Given the description of an element on the screen output the (x, y) to click on. 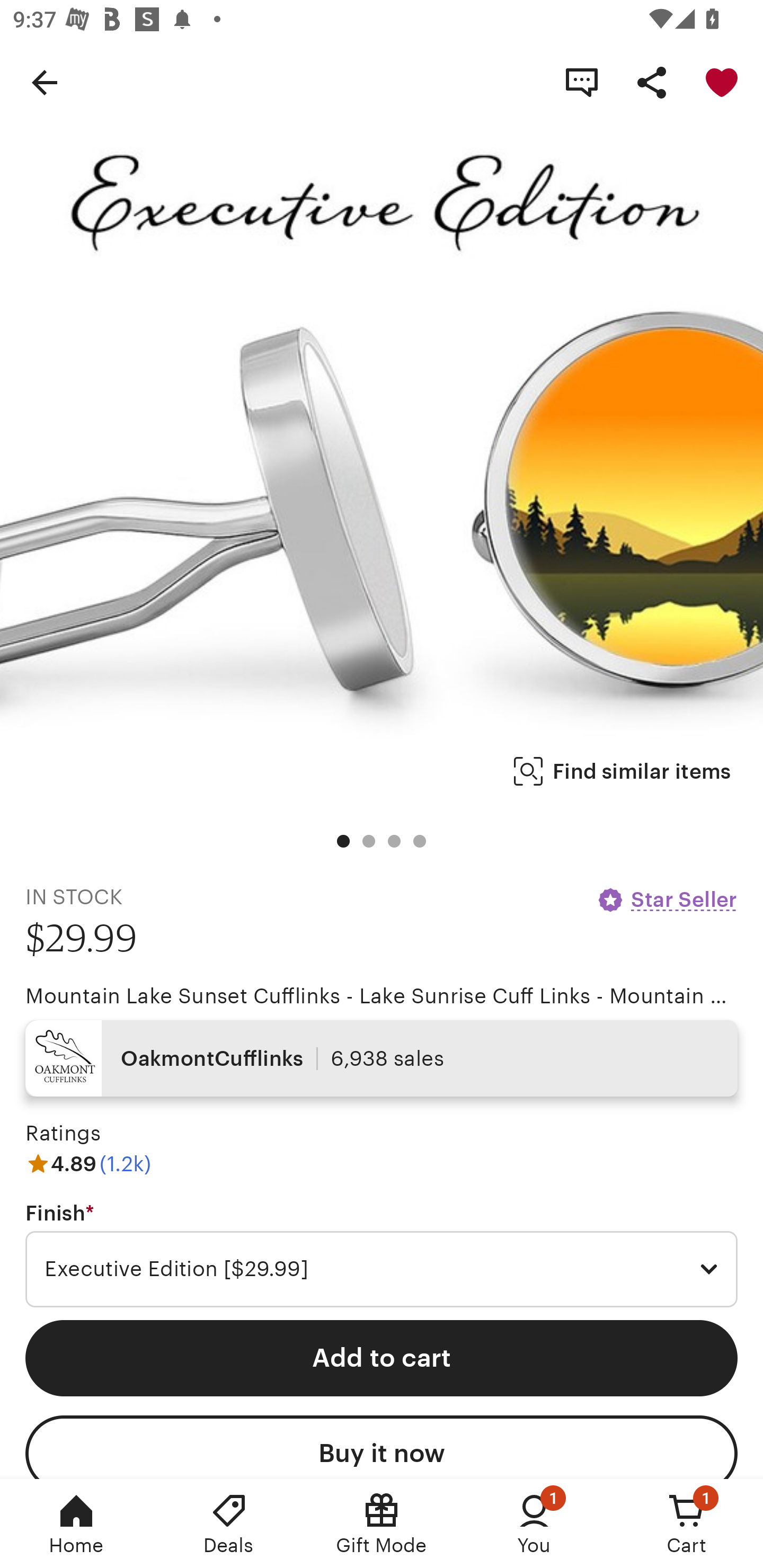
Navigate up (44, 81)
Contact shop (581, 81)
Share (651, 81)
Find similar items (622, 771)
Star Seller (666, 899)
OakmontCufflinks 6,938 sales (381, 1058)
Ratings (62, 1133)
4.89 (1.2k) (88, 1163)
Finish * Required Executive Edition [$29.99] (381, 1254)
Executive Edition [$29.99] (381, 1268)
Add to cart (381, 1358)
Buy it now (381, 1446)
Deals (228, 1523)
Gift Mode (381, 1523)
You, 1 new notification You (533, 1523)
Cart, 1 new notification Cart (686, 1523)
